Given the description of an element on the screen output the (x, y) to click on. 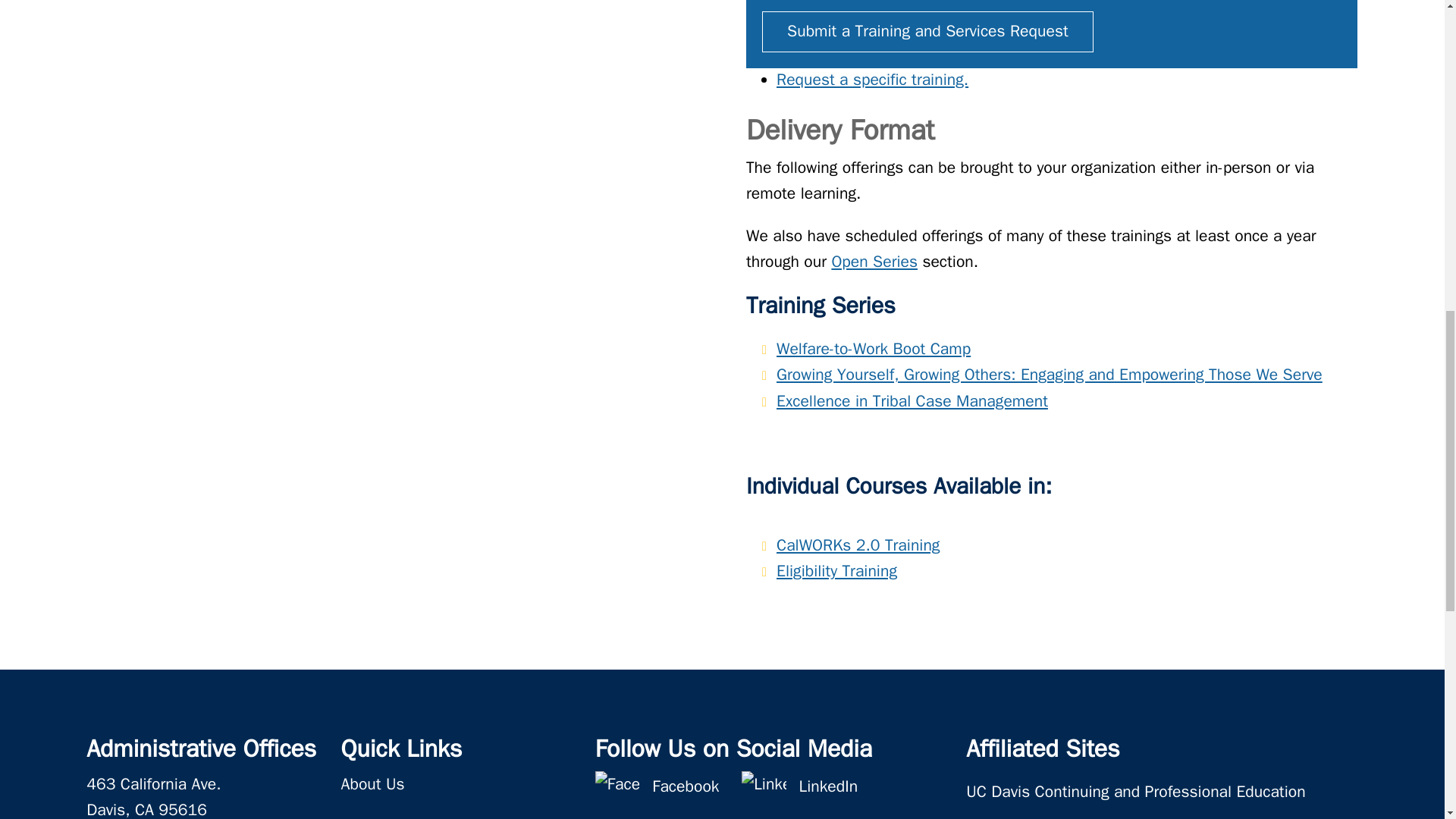
Connect with us on LinkedIn (763, 792)
Follow us on Facebook (617, 792)
Connect with us on LinkedIn (829, 792)
Follow us on Facebook (685, 792)
